Given the description of an element on the screen output the (x, y) to click on. 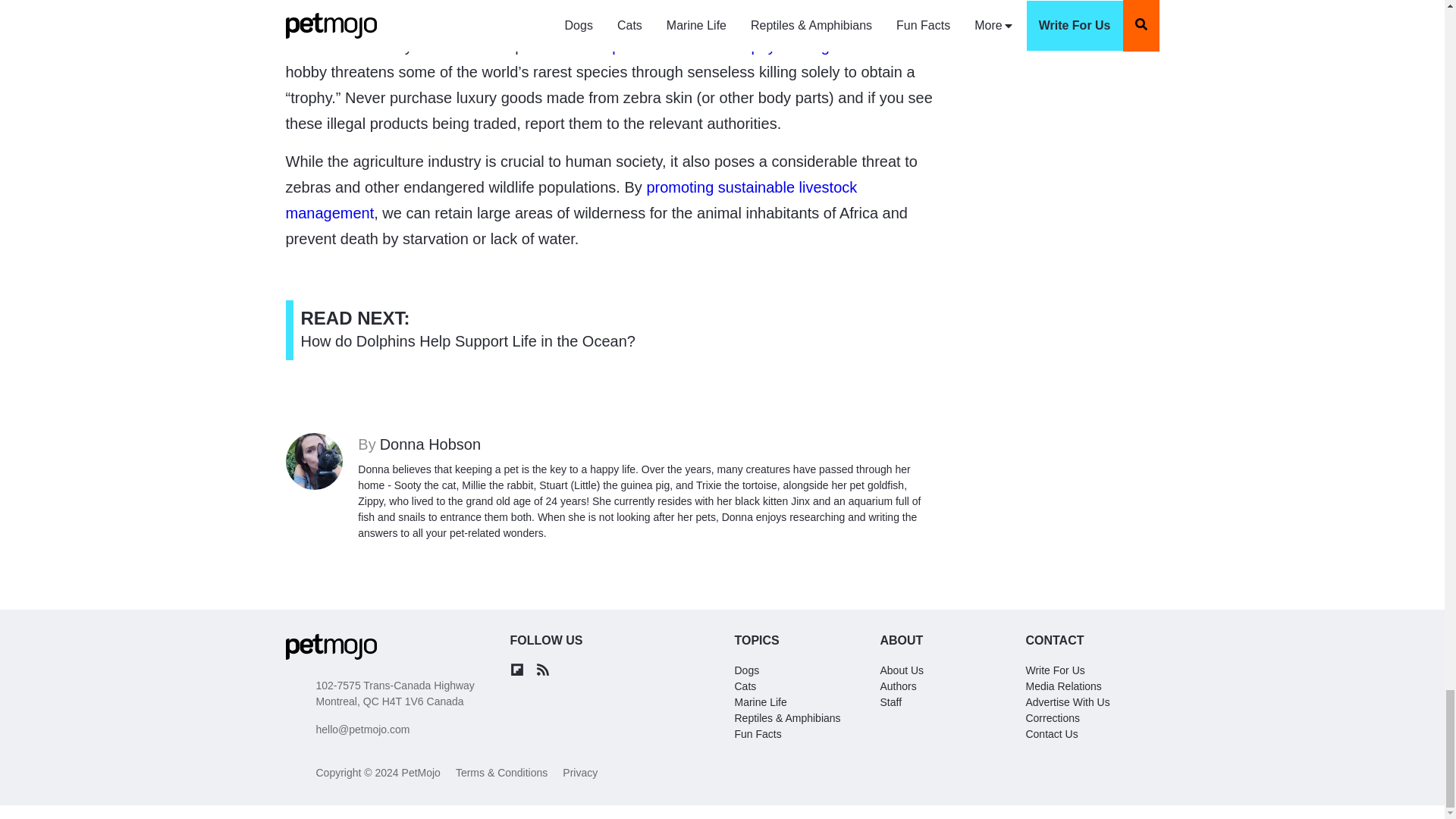
Marine Life (647, 444)
Cats (759, 702)
promoting sustainable livestock management (744, 686)
Fun Facts (571, 200)
Dogs (756, 734)
end harmful practices such as trophy hunting (745, 670)
About Us (678, 45)
